Given the description of an element on the screen output the (x, y) to click on. 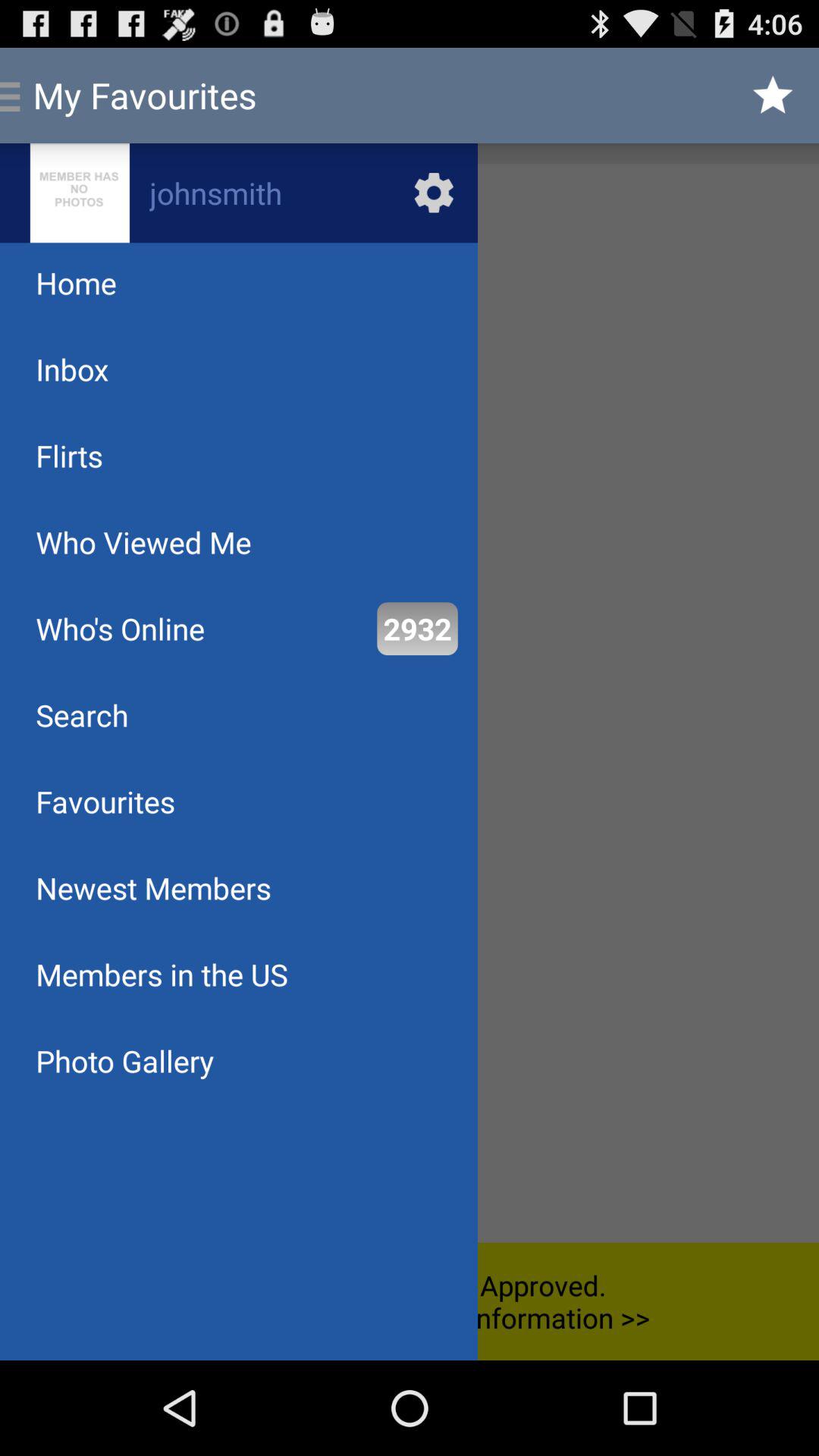
click icon next to 2932 icon (119, 628)
